Given the description of an element on the screen output the (x, y) to click on. 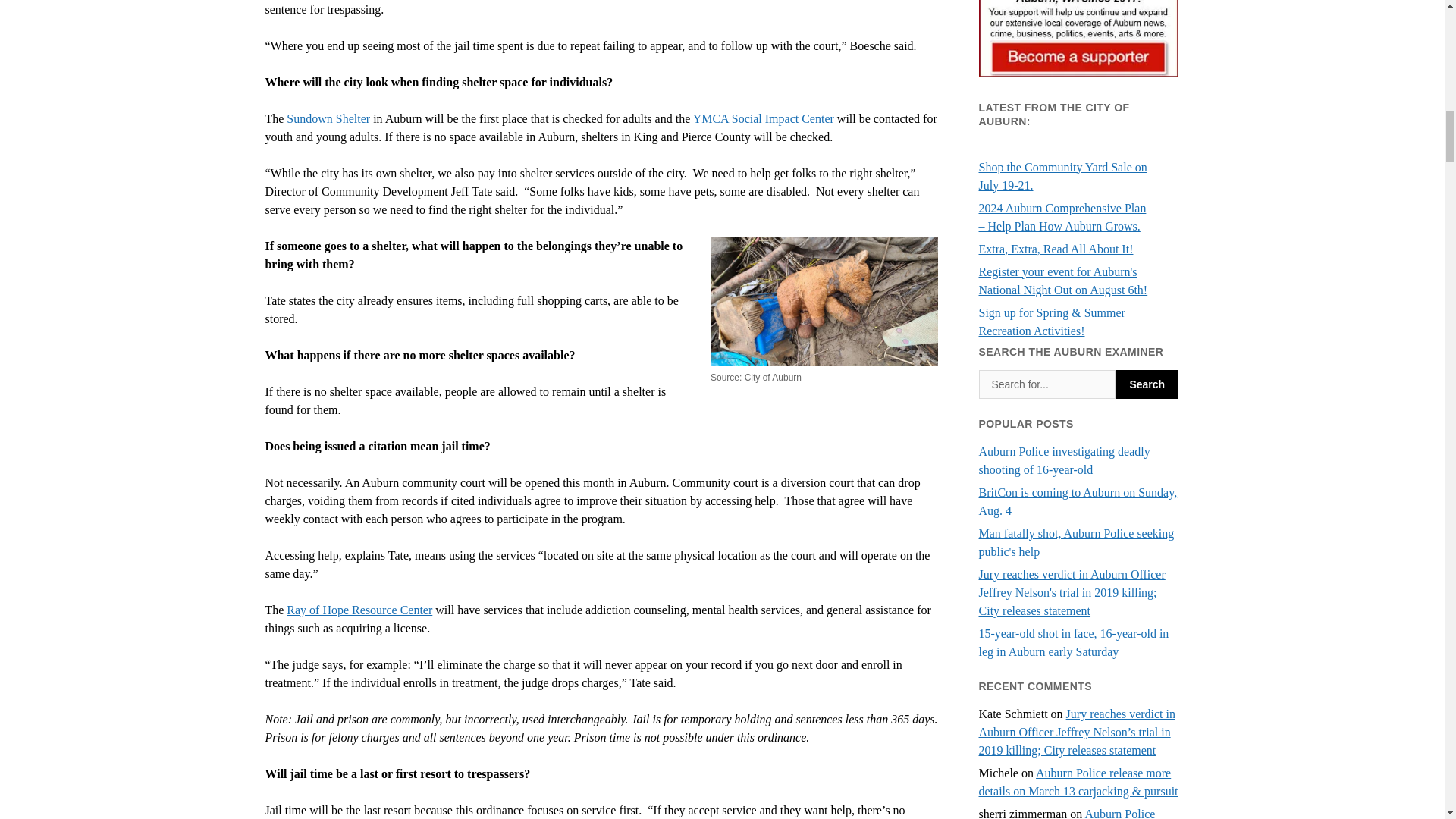
Search (1146, 384)
Search (1146, 384)
